Given the description of an element on the screen output the (x, y) to click on. 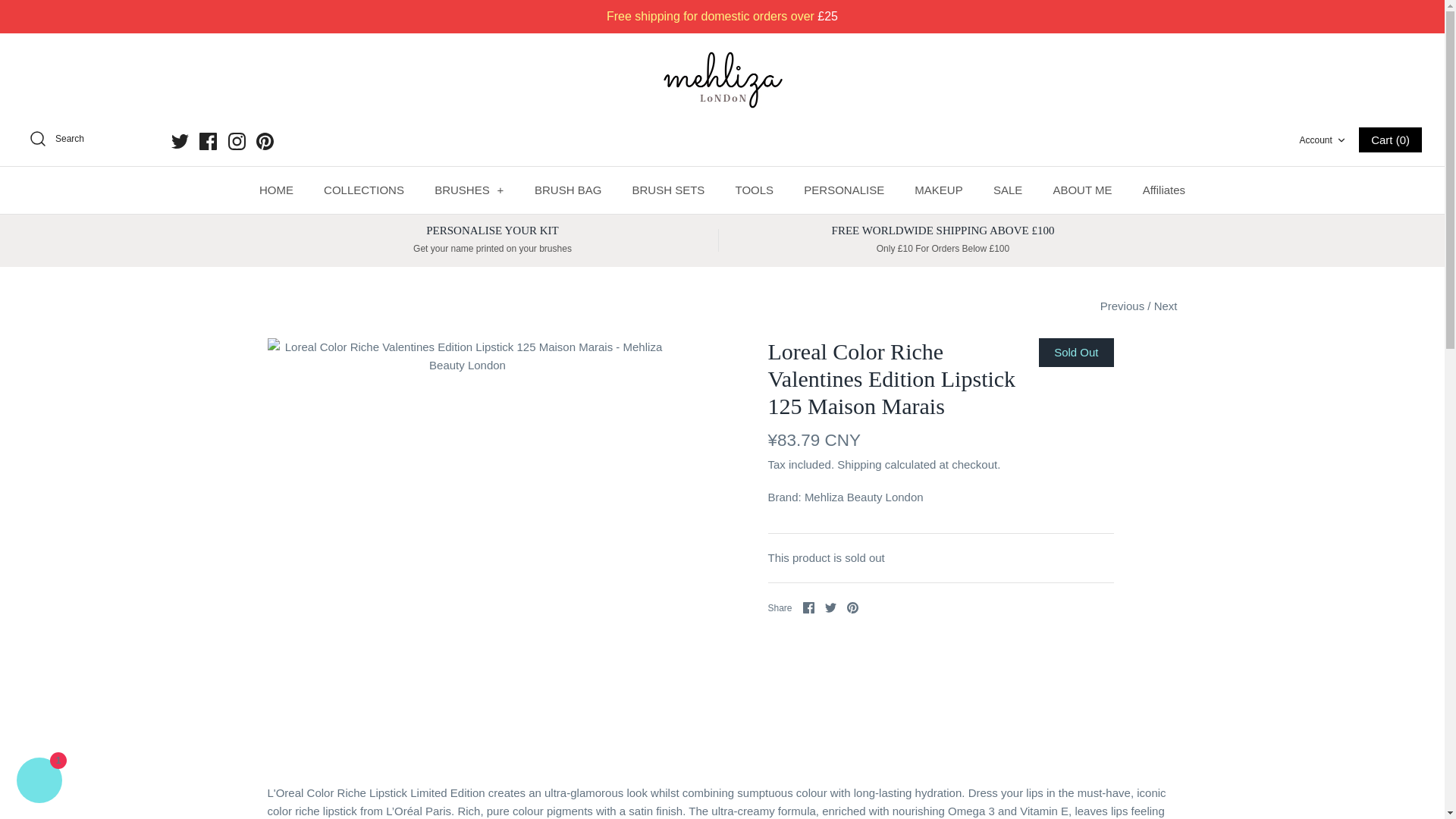
Twitter (180, 140)
Instagram (237, 140)
Twitter (830, 607)
Facebook (207, 140)
COLLECTIONS (363, 190)
Pinterest (264, 140)
Twitter (180, 140)
HOME (276, 190)
Instagram (237, 140)
Down (1341, 140)
Instagram (237, 140)
Mehliza Beauty London (722, 78)
Facebook (207, 140)
BRUSH BAG (567, 190)
Facebook (207, 140)
